Given the description of an element on the screen output the (x, y) to click on. 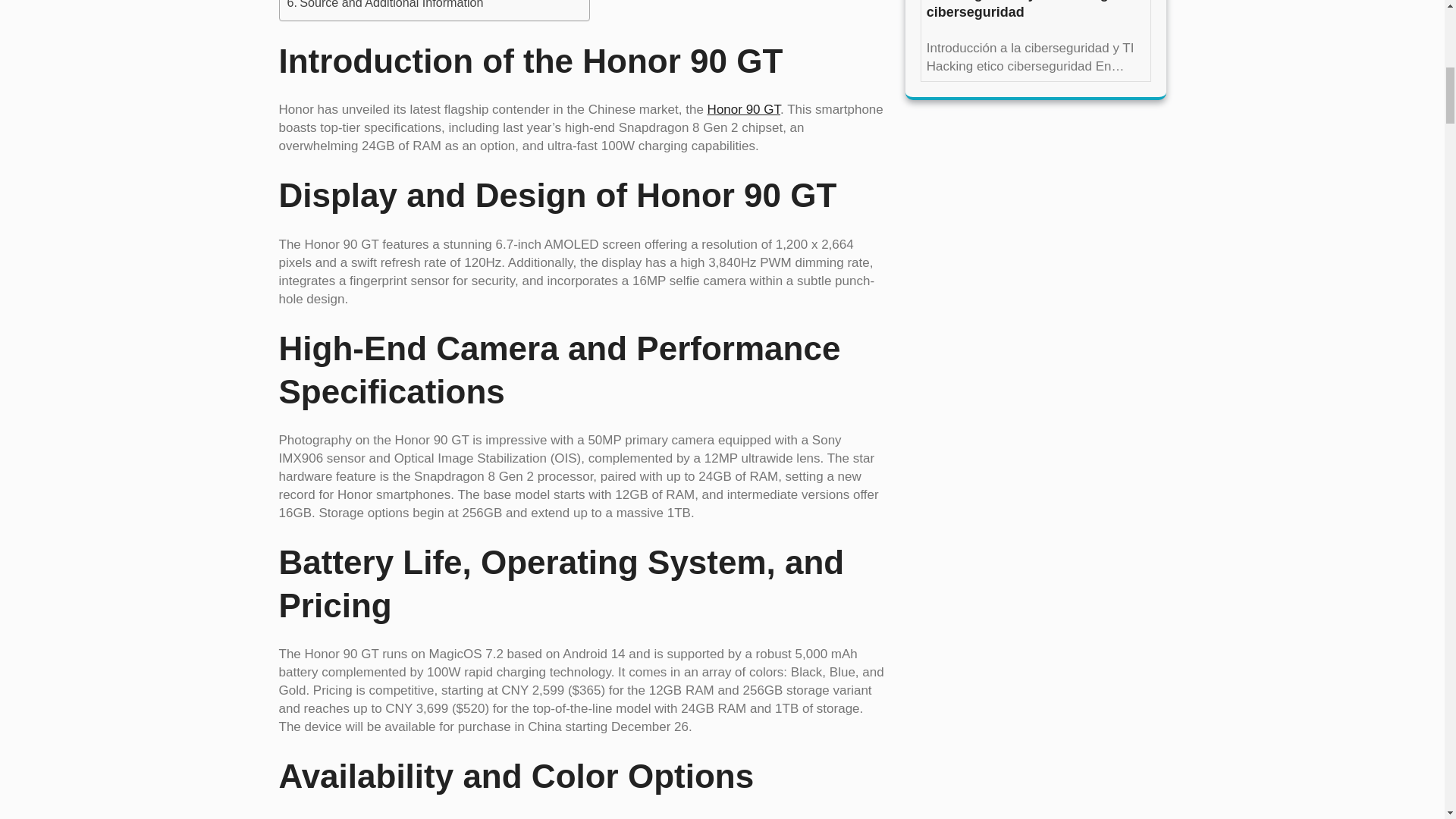
ciberseguridad y TI Hacking etico ciberseguridad (1035, 10)
Honor 90 GT (743, 109)
Source and Additional Information (384, 6)
Source and Additional Information (384, 6)
